Given the description of an element on the screen output the (x, y) to click on. 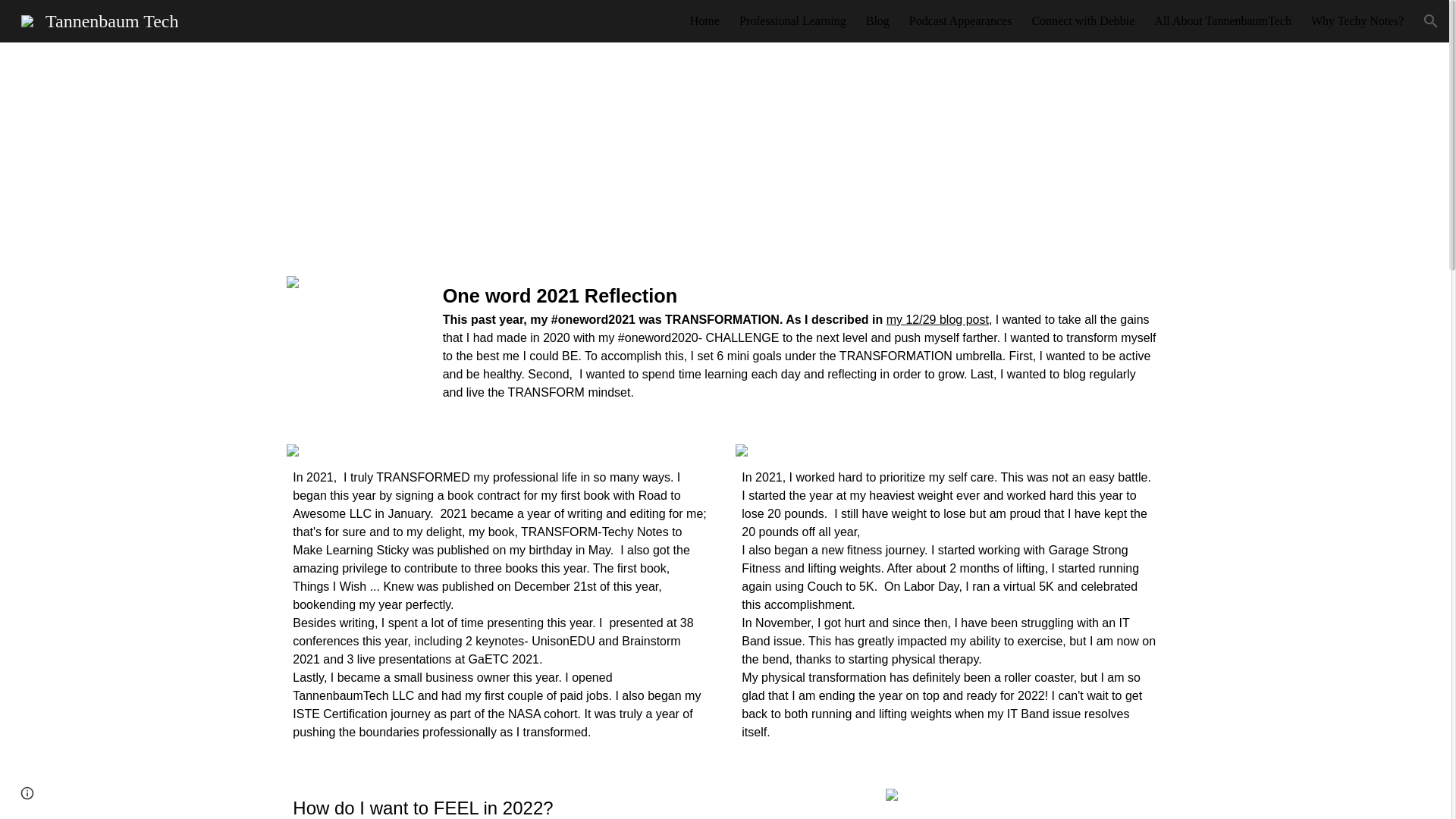
Blog (877, 20)
Home (704, 20)
Why Techy Notes? (1357, 20)
Professional Learning (792, 20)
Podcast Appearances (959, 20)
Tannenbaum Tech (99, 19)
Connect with Debbie (1082, 20)
All About TannenbaumTech (1222, 20)
